Given the description of an element on the screen output the (x, y) to click on. 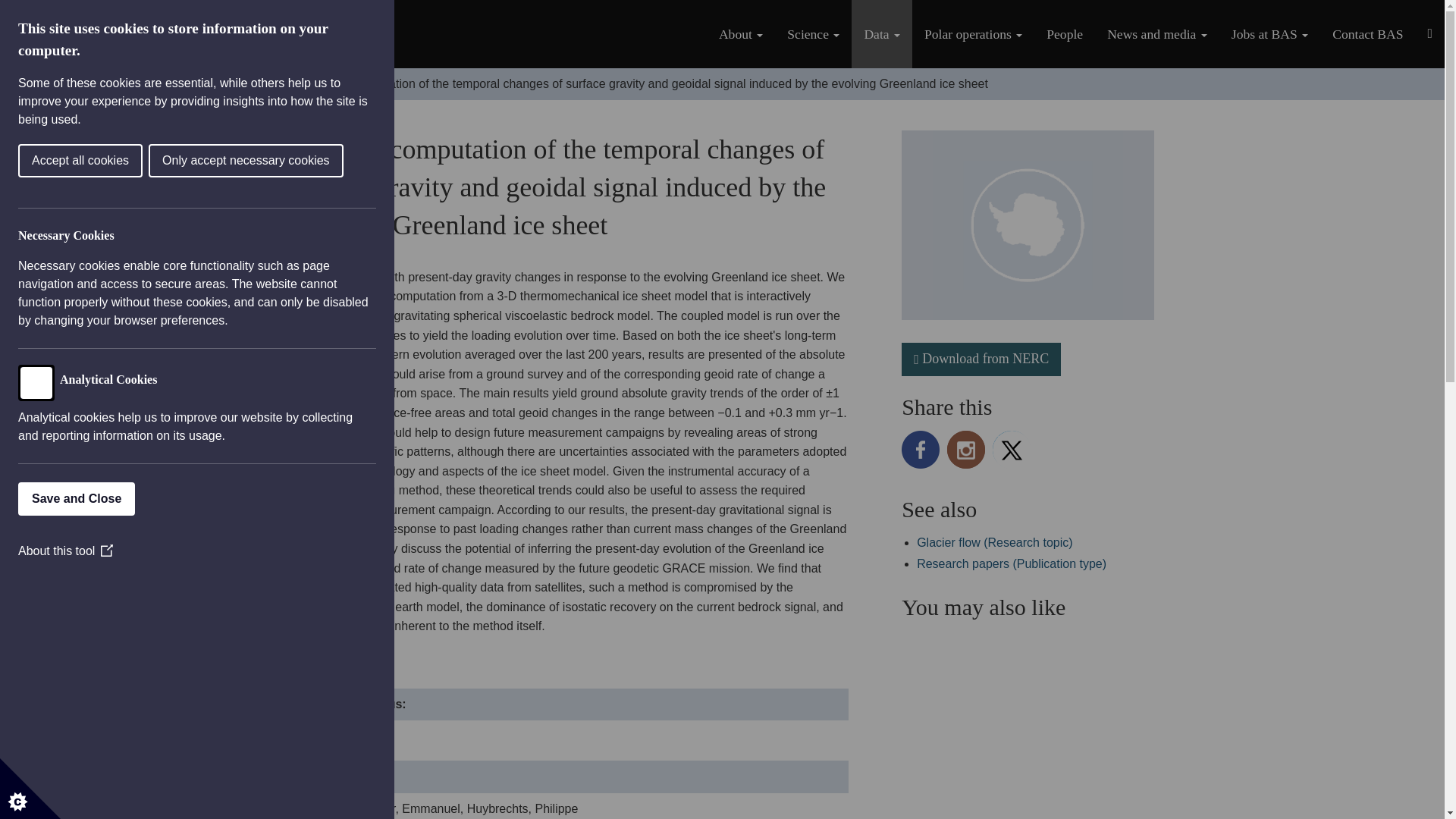
Only accept necessary cookies (72, 160)
About (740, 33)
